Given the description of an element on the screen output the (x, y) to click on. 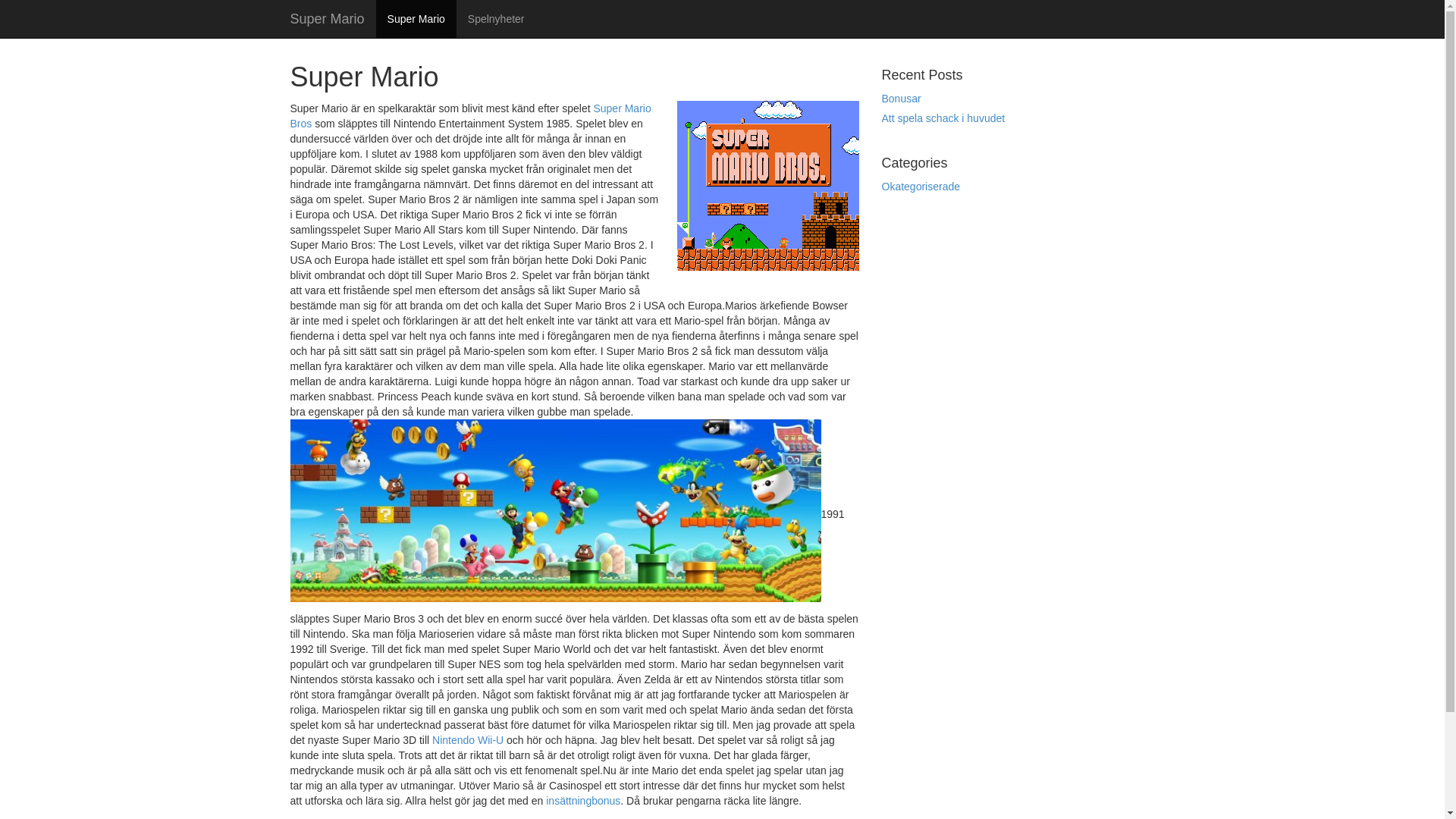
Okategoriserade Element type: text (920, 186)
Spelnyheter Element type: text (496, 18)
Nintendo Wii-U Element type: text (467, 740)
Super Mario Element type: text (327, 18)
Bonusar Element type: text (900, 98)
Super Mario Element type: text (416, 18)
Super Mario Bros Element type: text (469, 115)
Att spela schack i huvudet Element type: text (942, 118)
